Given the description of an element on the screen output the (x, y) to click on. 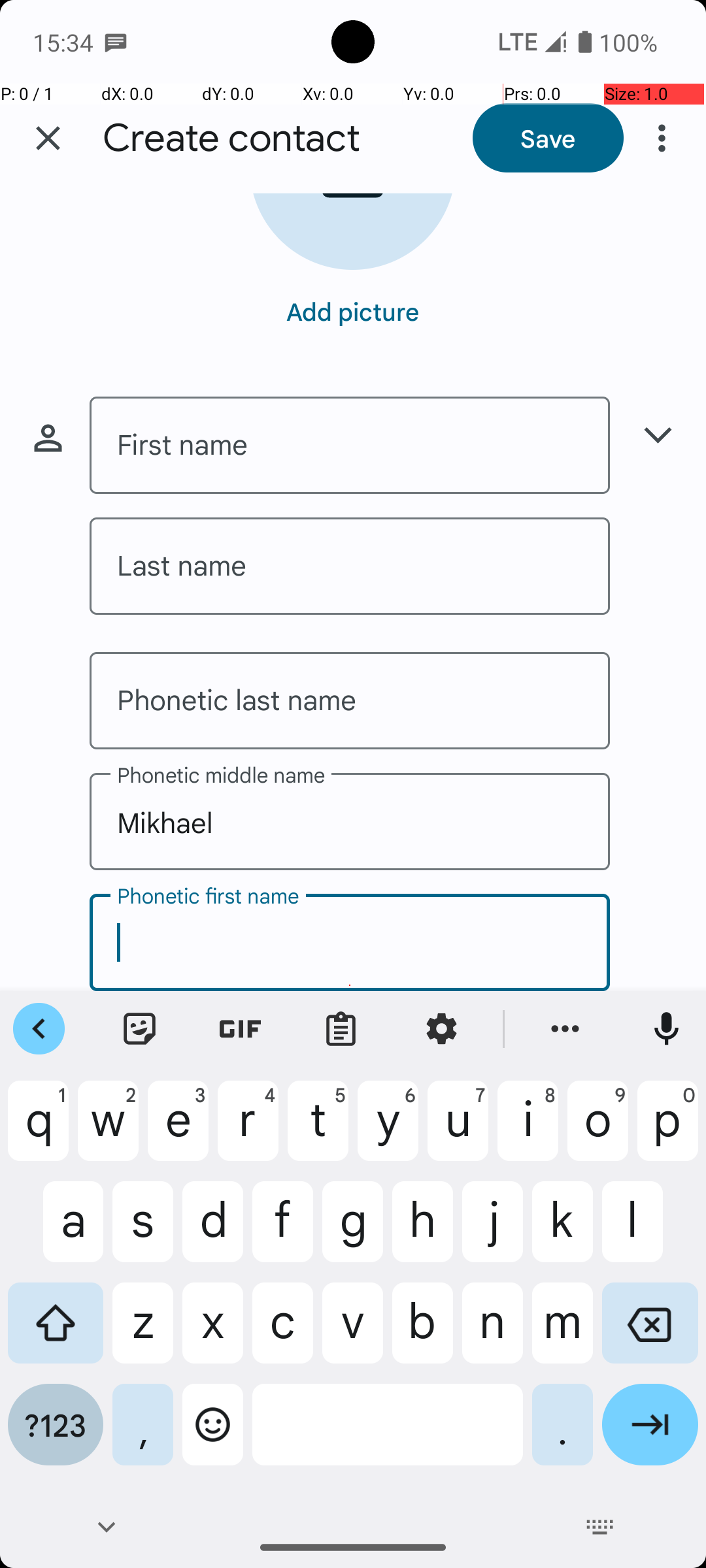
Add contact photo Element type: android.widget.FrameLayout (352, 231)
Add picture Element type: android.widget.Button (352, 310)
Phonetic last name Element type: android.widget.EditText (349, 700)
Mikhael Element type: android.widget.EditText (349, 821)
Phonetic first name Element type: android.widget.EditText (349, 942)
Show more name fields Element type: android.widget.ImageView (657, 434)
